Given the description of an element on the screen output the (x, y) to click on. 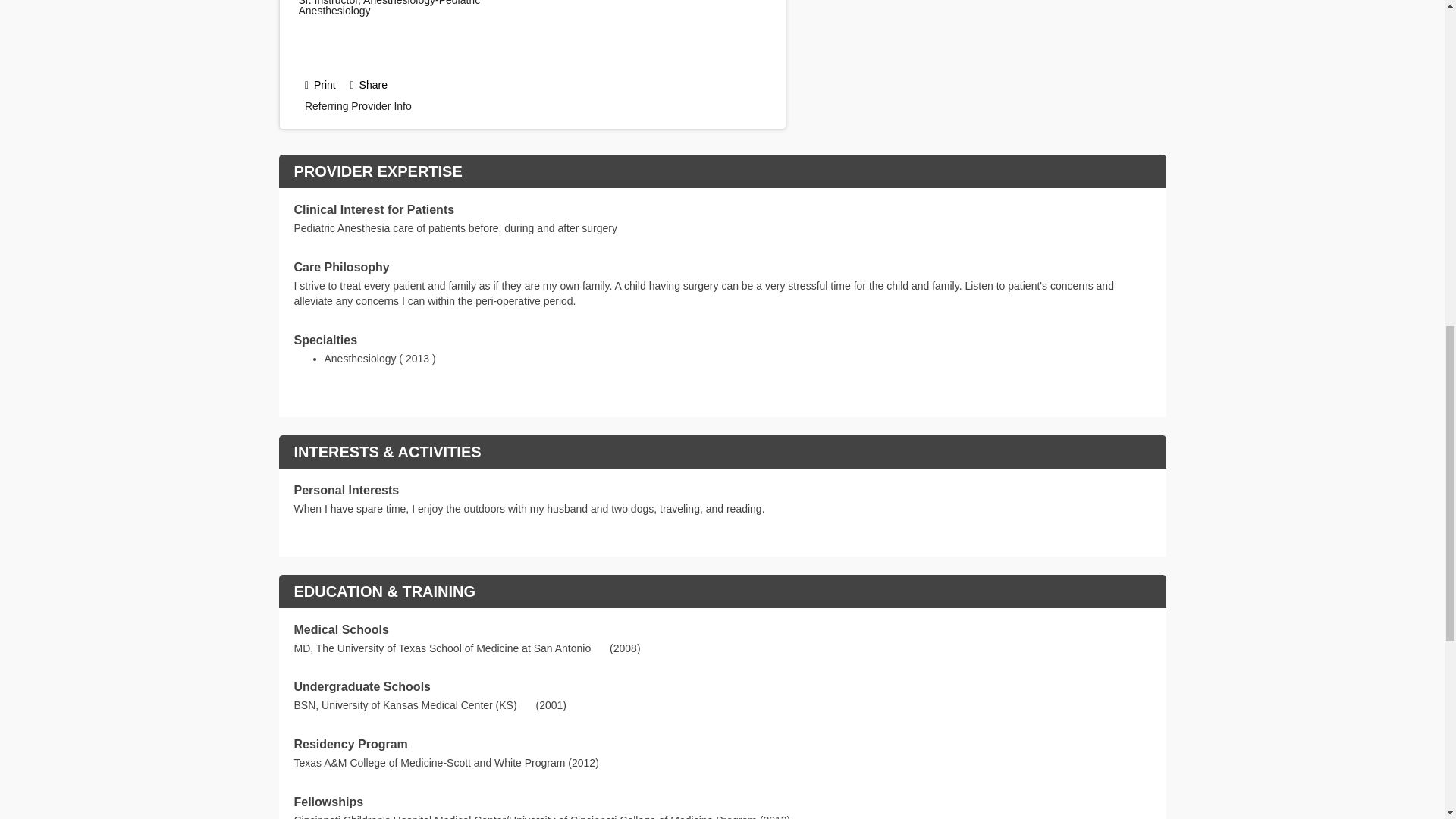
Print (320, 84)
Referring Provider Info (358, 105)
Share (368, 84)
